Given the description of an element on the screen output the (x, y) to click on. 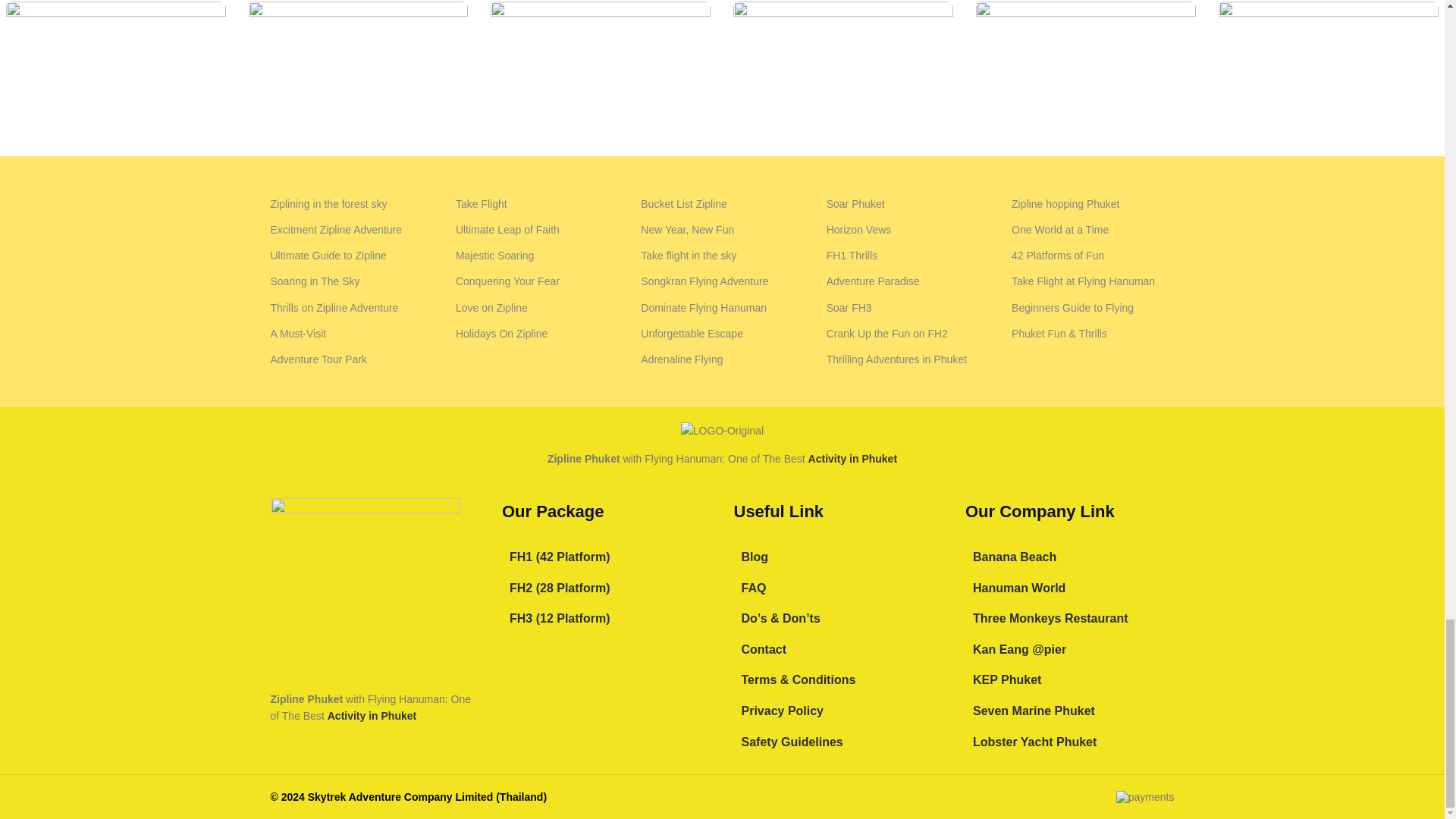
Ultimate Guide to Zipline (350, 255)
Ziplining in the forest sky (350, 203)
Soaring in The Sky (350, 281)
Excitment Zipline Adventure (350, 229)
